Given the description of an element on the screen output the (x, y) to click on. 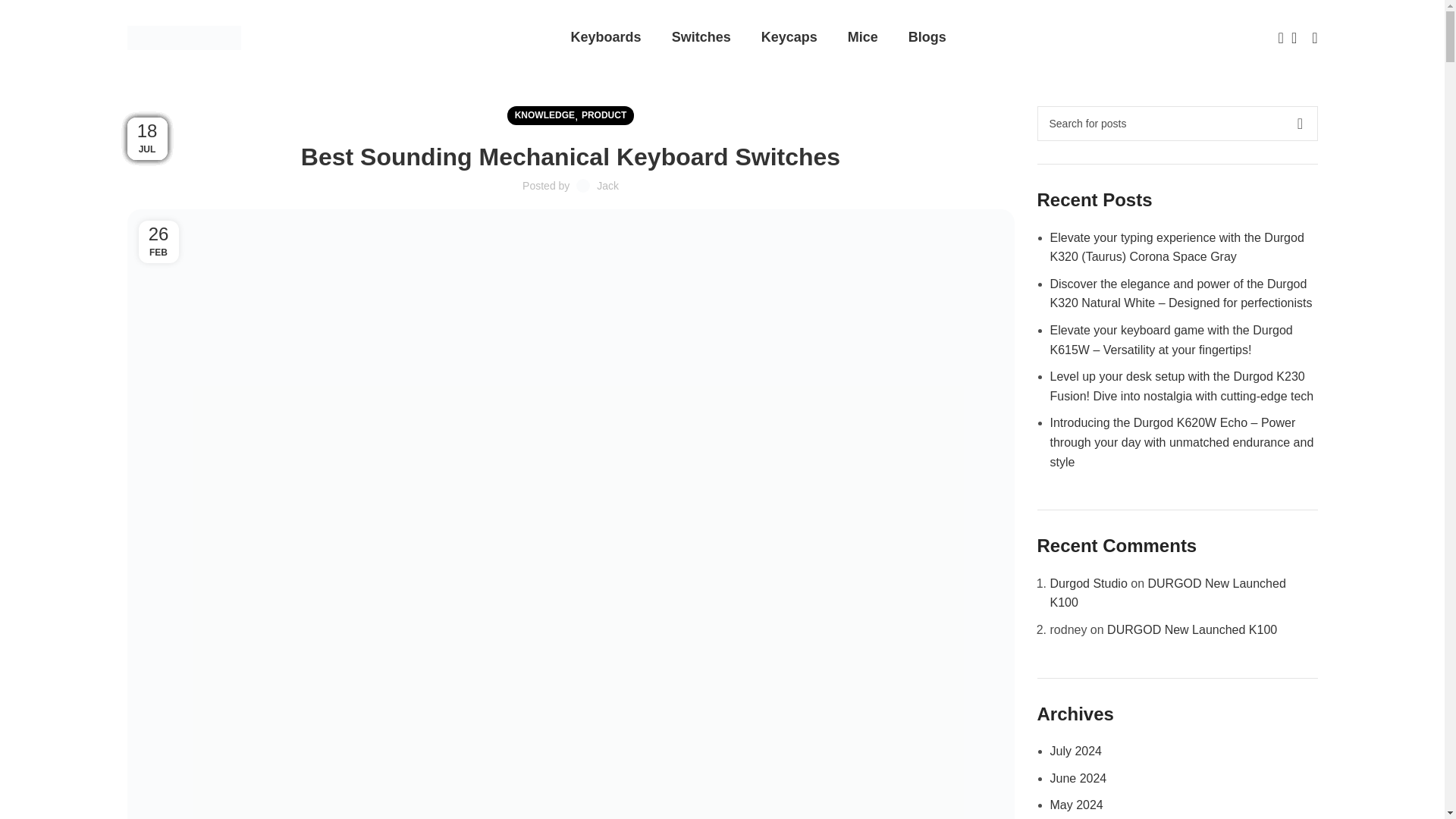
Shopping cart (1294, 37)
My account (1314, 37)
Switches (700, 37)
KNOWLEDGE (545, 115)
Mice (862, 37)
PRODUCT (603, 115)
Log in (1101, 282)
Keycaps (788, 37)
Jack (607, 185)
Keyboards (606, 37)
Search (1276, 37)
Blogs (927, 37)
Search for posts (1176, 123)
